Given the description of an element on the screen output the (x, y) to click on. 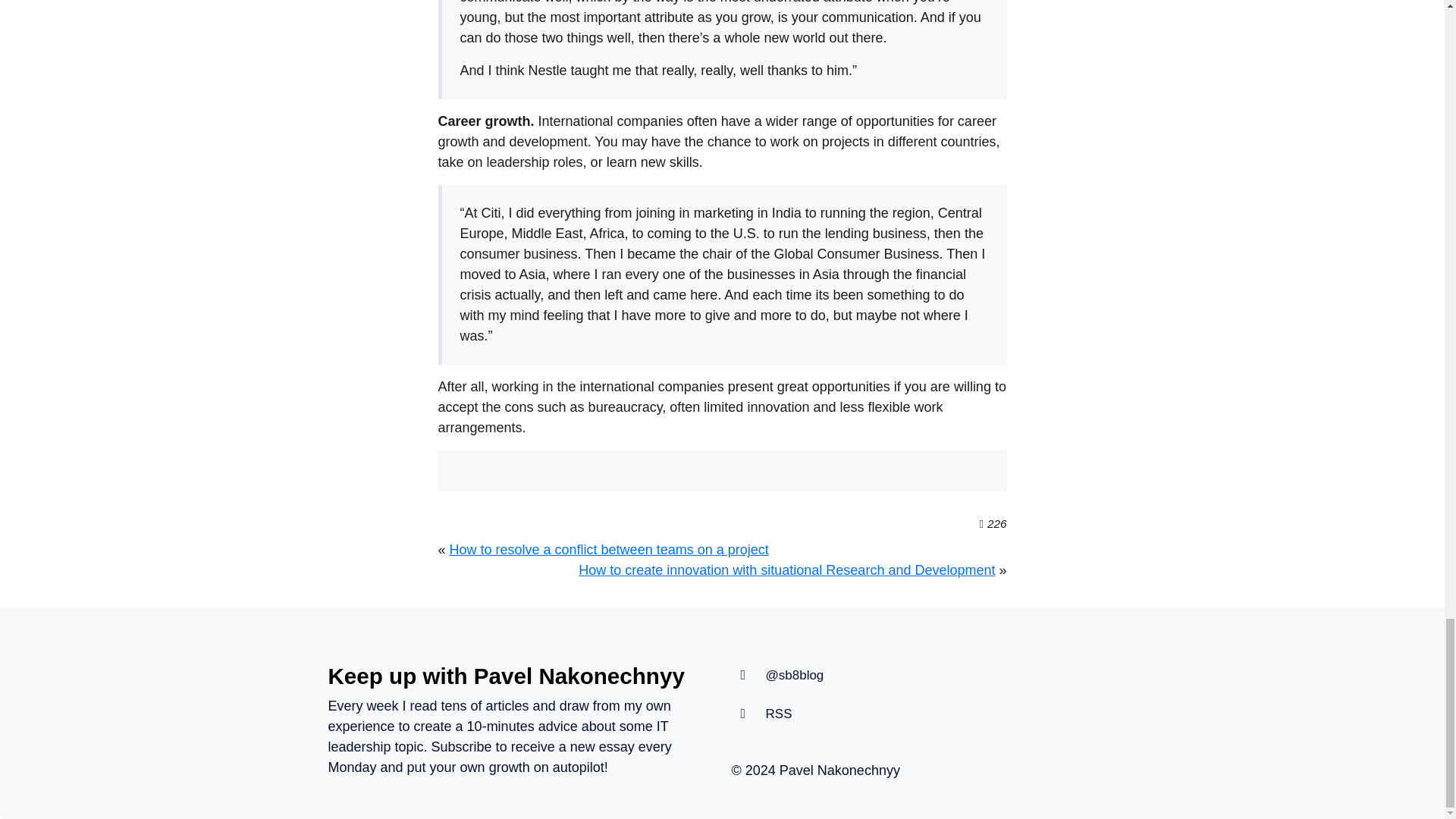
How to resolve a conflict between teams on a project (608, 549)
RSS (778, 713)
